Given the description of an element on the screen output the (x, y) to click on. 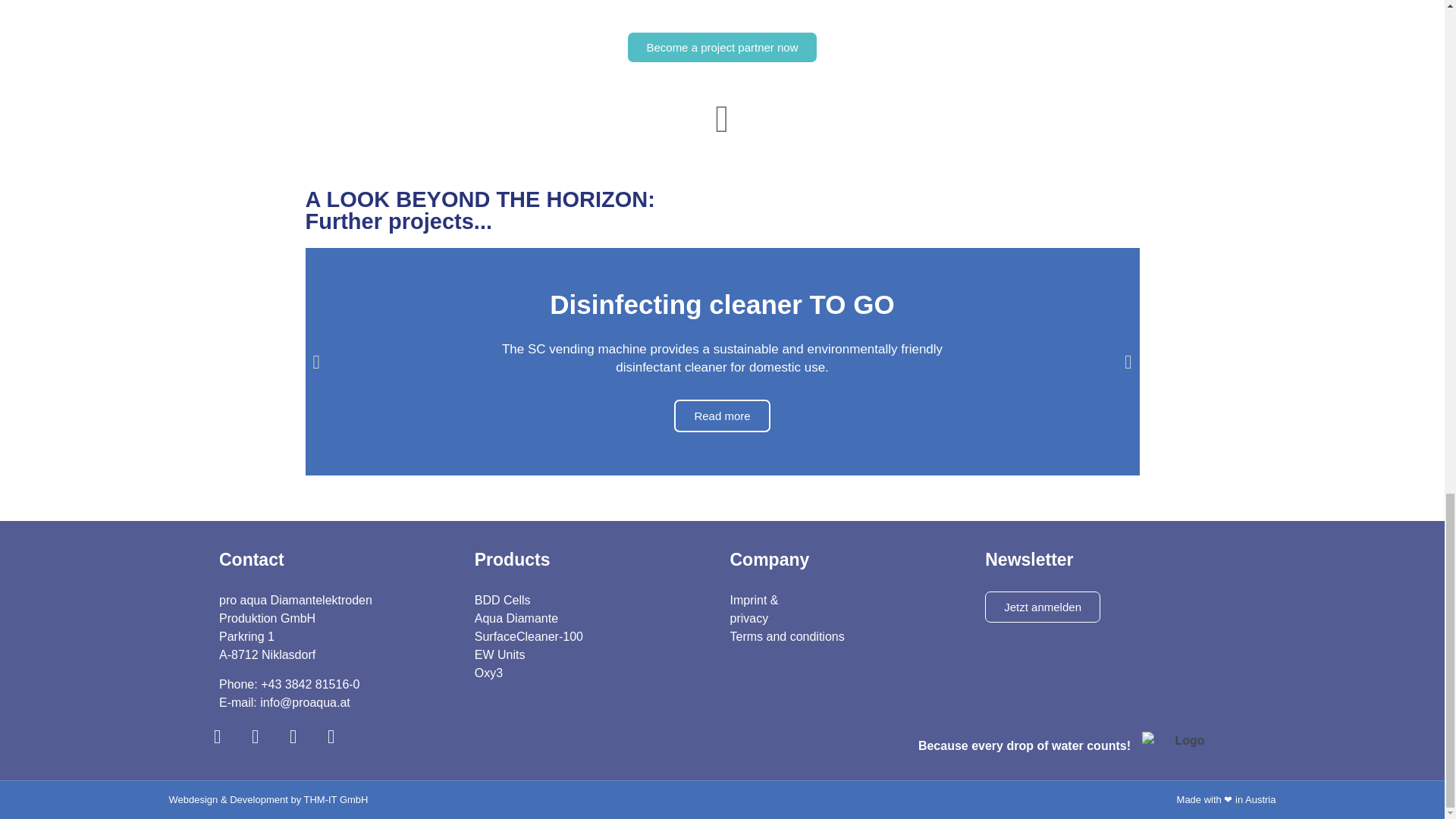
SurfaceCleaner-100 (528, 635)
Read more (722, 415)
Become a project partner now (721, 47)
EW Units (499, 654)
BDD Cells (502, 599)
Aqua Diamante (515, 617)
